Given the description of an element on the screen output the (x, y) to click on. 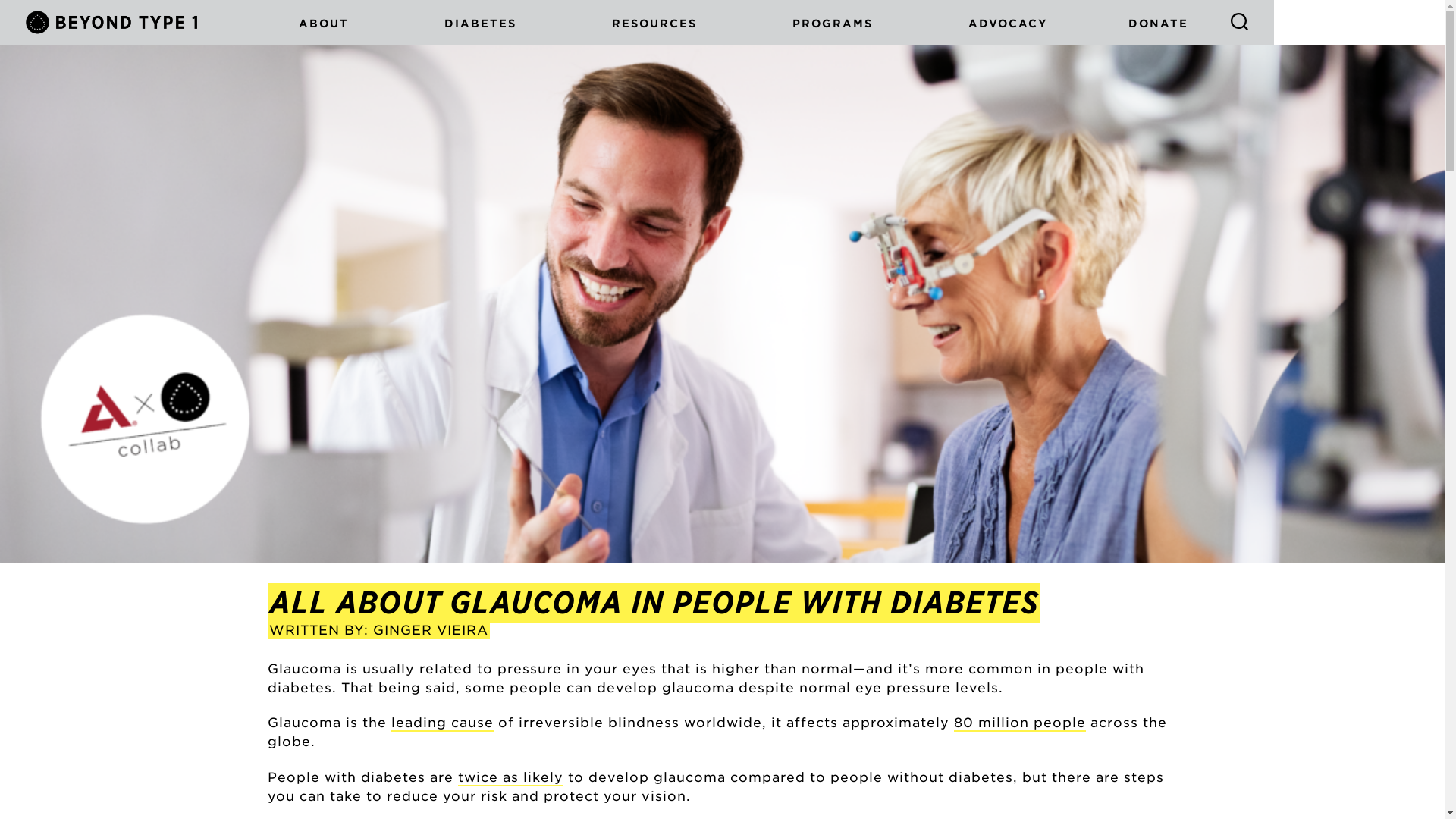
PROGRAMS (834, 22)
DIABETES (482, 22)
RESOURCES (656, 22)
ABOUT (325, 22)
